Given the description of an element on the screen output the (x, y) to click on. 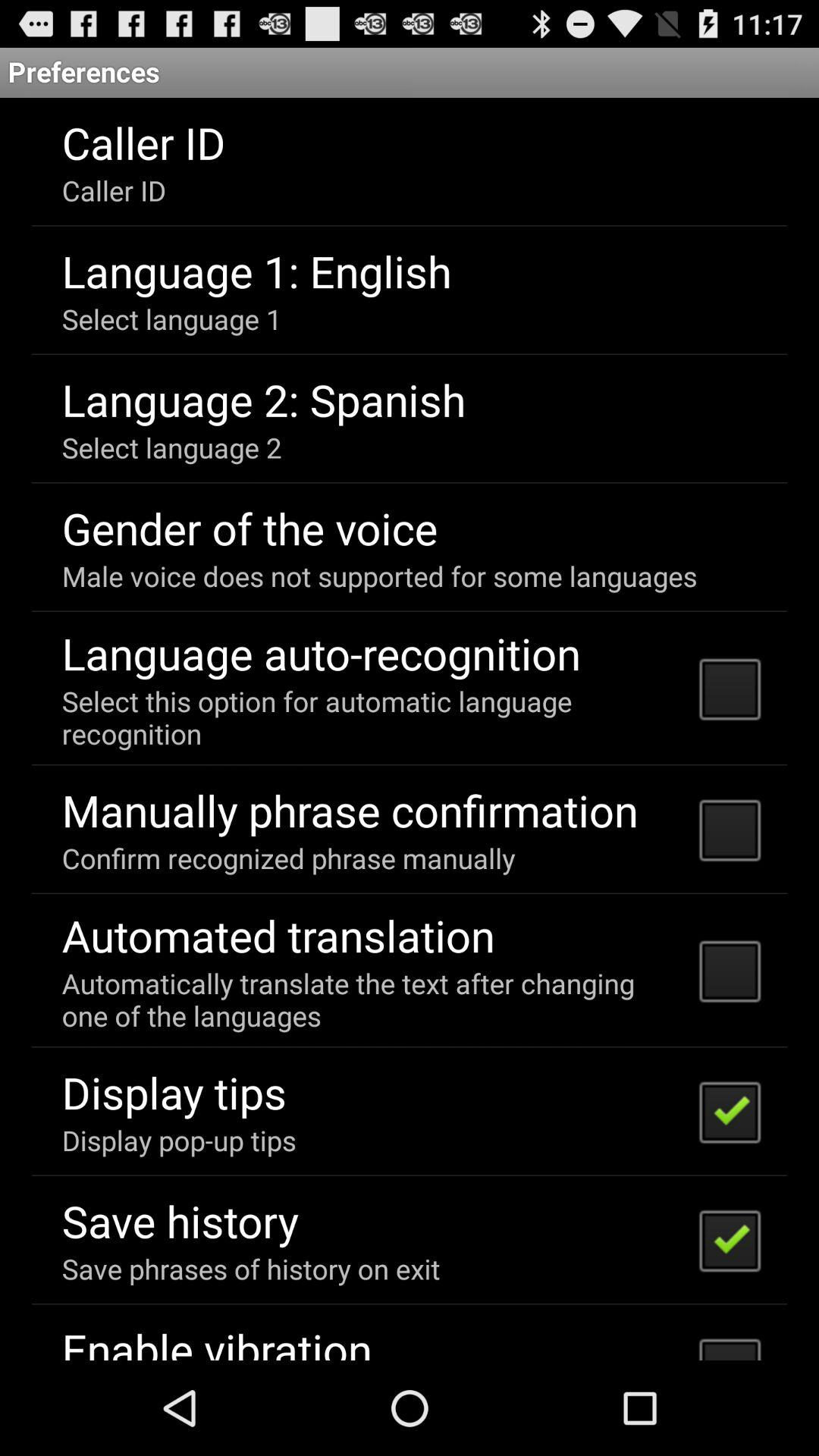
tap the display pop up (178, 1140)
